Given the description of an element on the screen output the (x, y) to click on. 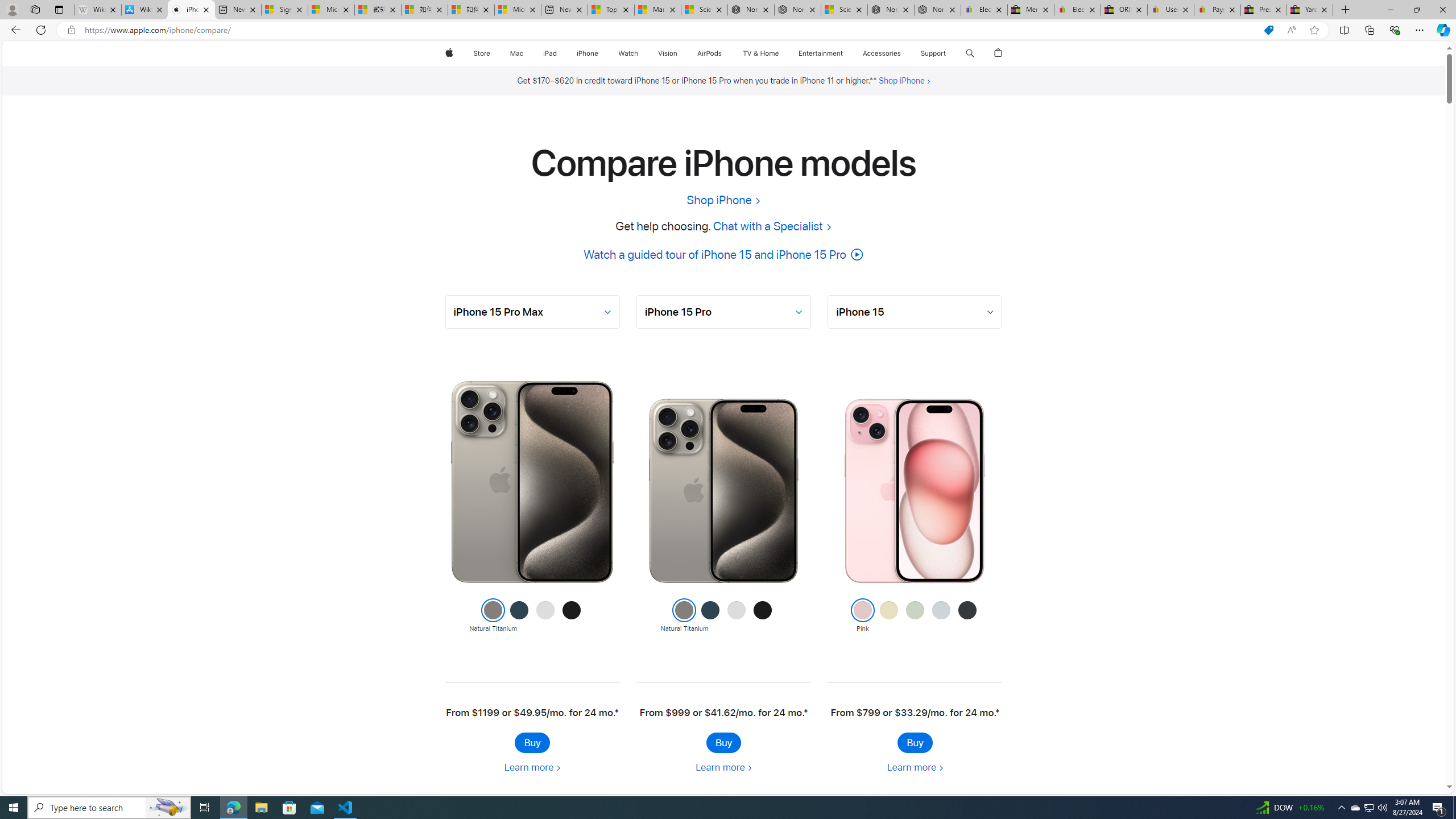
Learn more about iPhone 15 (914, 767)
iPad (550, 53)
Green (914, 615)
Class: colornav-link current (862, 610)
Natural Titanium (684, 615)
Buy iPhone 15 (914, 742)
AirPods (709, 53)
